Given the description of an element on the screen output the (x, y) to click on. 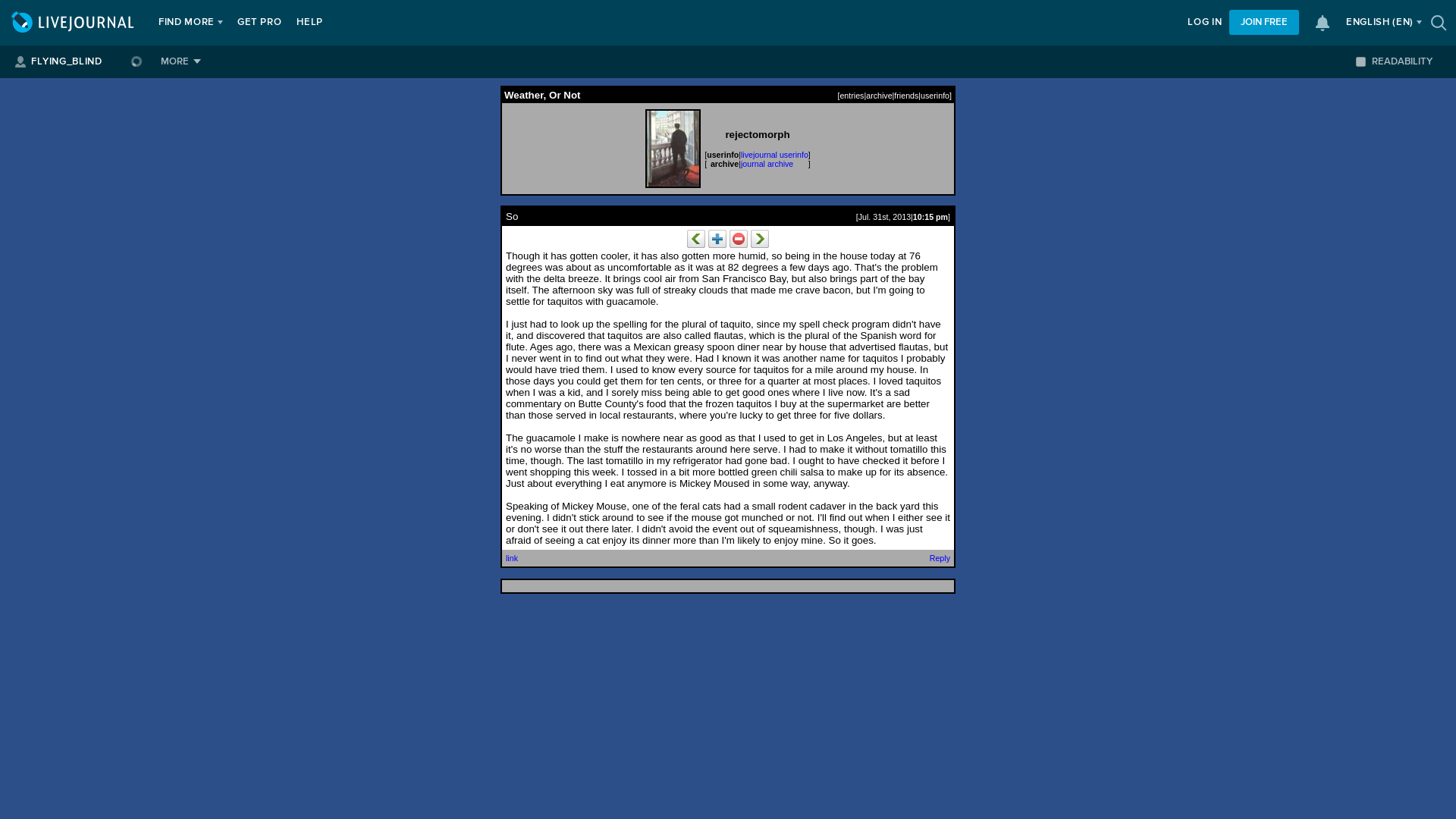
Flag (738, 239)
LIVEJOURNAL (73, 22)
FIND MORE (186, 22)
JOIN FREE (1263, 22)
HELP (309, 22)
GET PRO (259, 22)
Previous Entry (695, 239)
Next Entry (759, 239)
MORE (180, 61)
on (1360, 61)
